Given the description of an element on the screen output the (x, y) to click on. 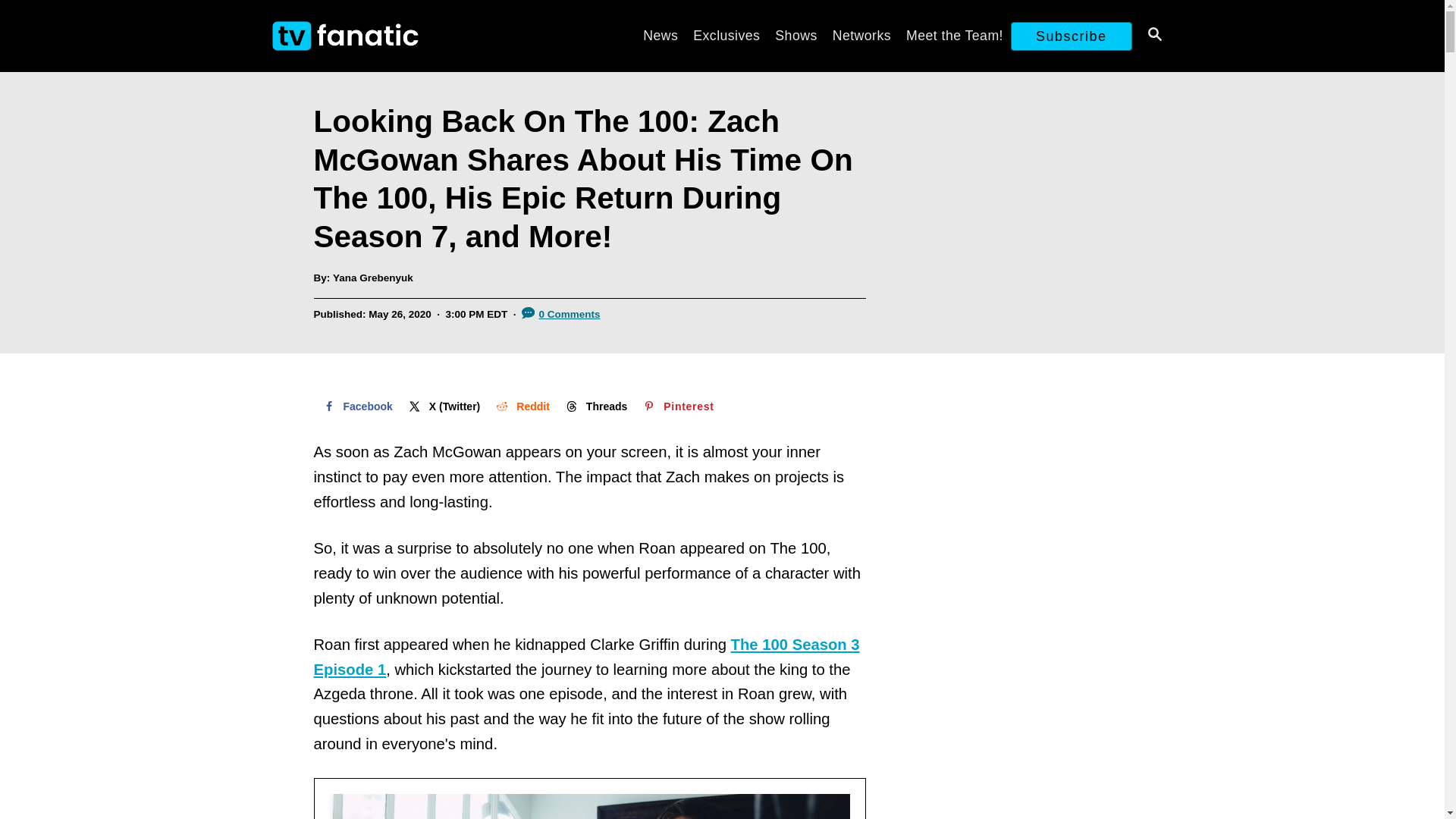
Exclusives (726, 35)
Share on Facebook (356, 406)
Share on Reddit (521, 406)
News (659, 35)
Networks (861, 35)
Share on Threads (594, 406)
Share on X (442, 406)
SEARCH (1153, 35)
Shows (795, 35)
TV Fanatic (403, 36)
